Given the description of an element on the screen output the (x, y) to click on. 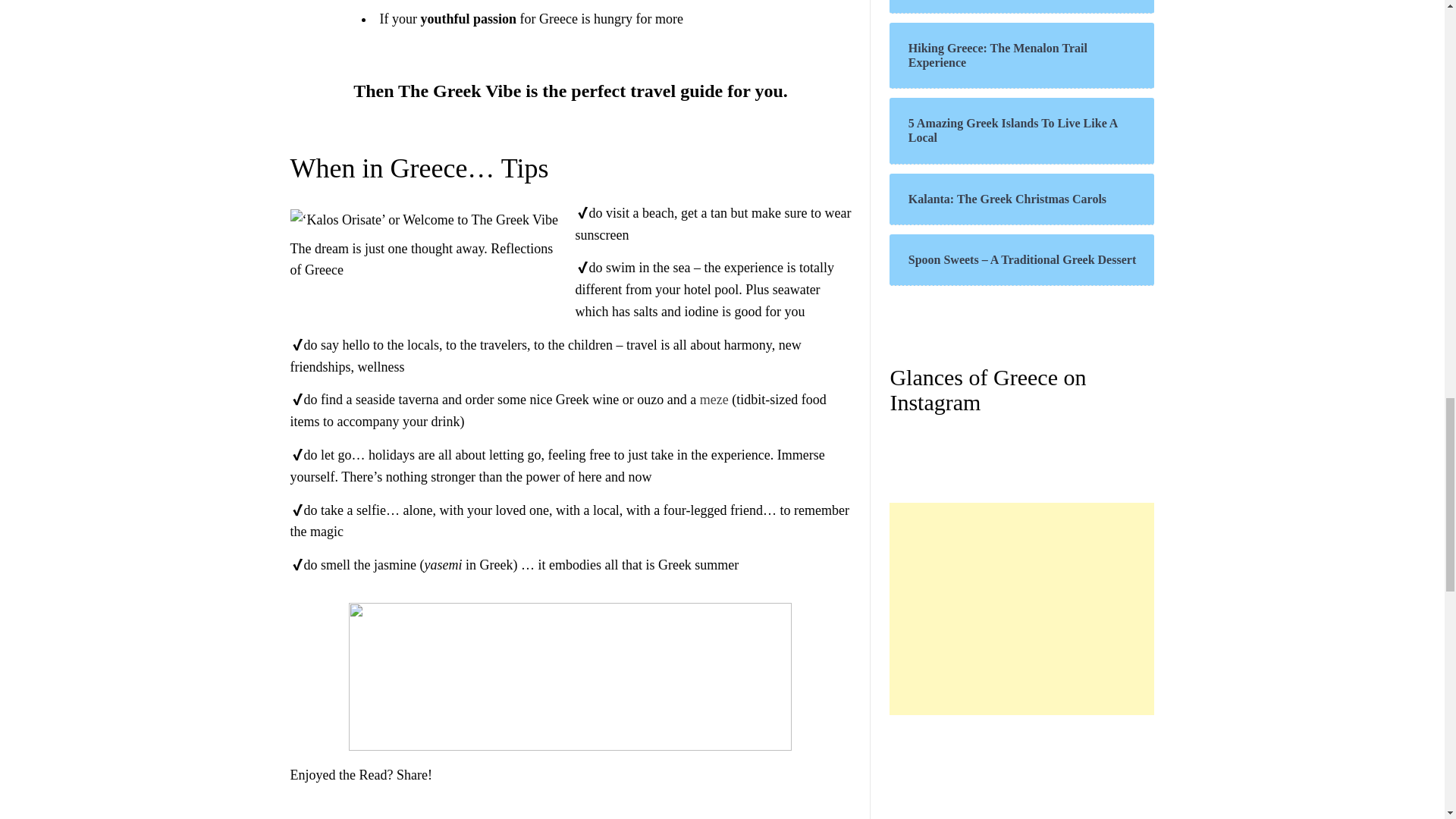
meze (714, 399)
